Given the description of an element on the screen output the (x, y) to click on. 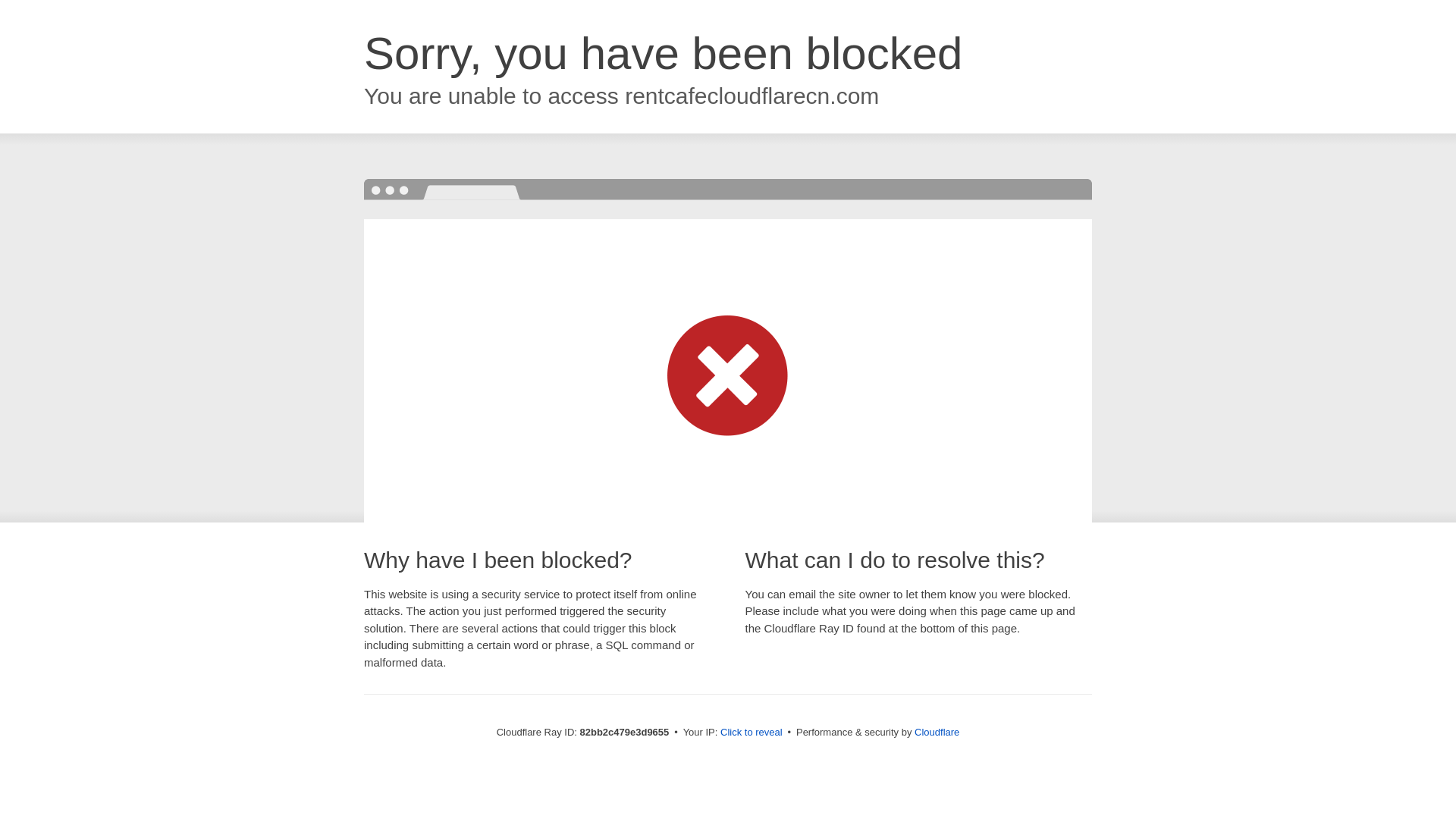
Cloudflare Element type: text (936, 731)
Click to reveal Element type: text (751, 732)
